Given the description of an element on the screen output the (x, y) to click on. 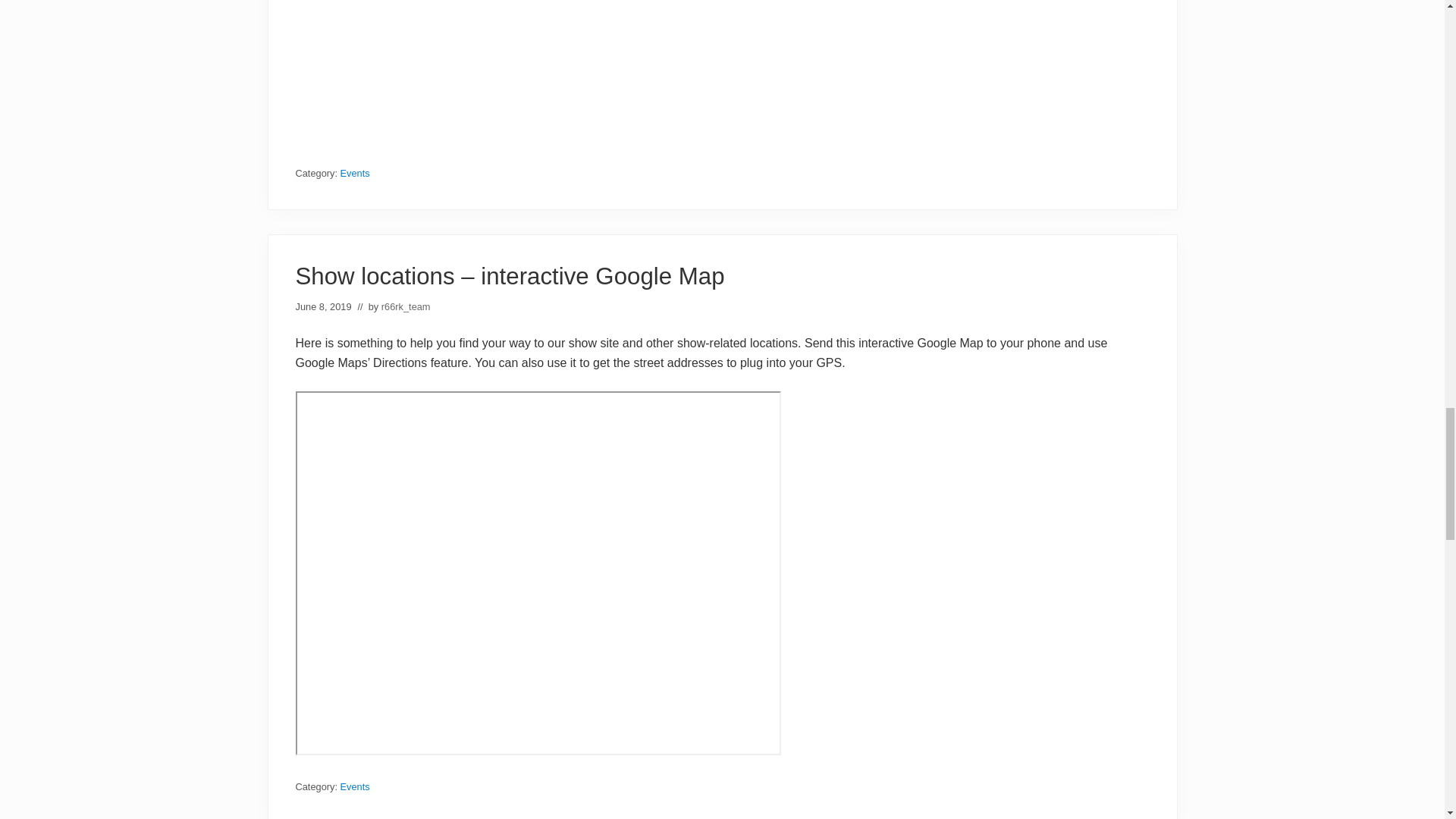
Events (354, 786)
Events (354, 173)
